Given the description of an element on the screen output the (x, y) to click on. 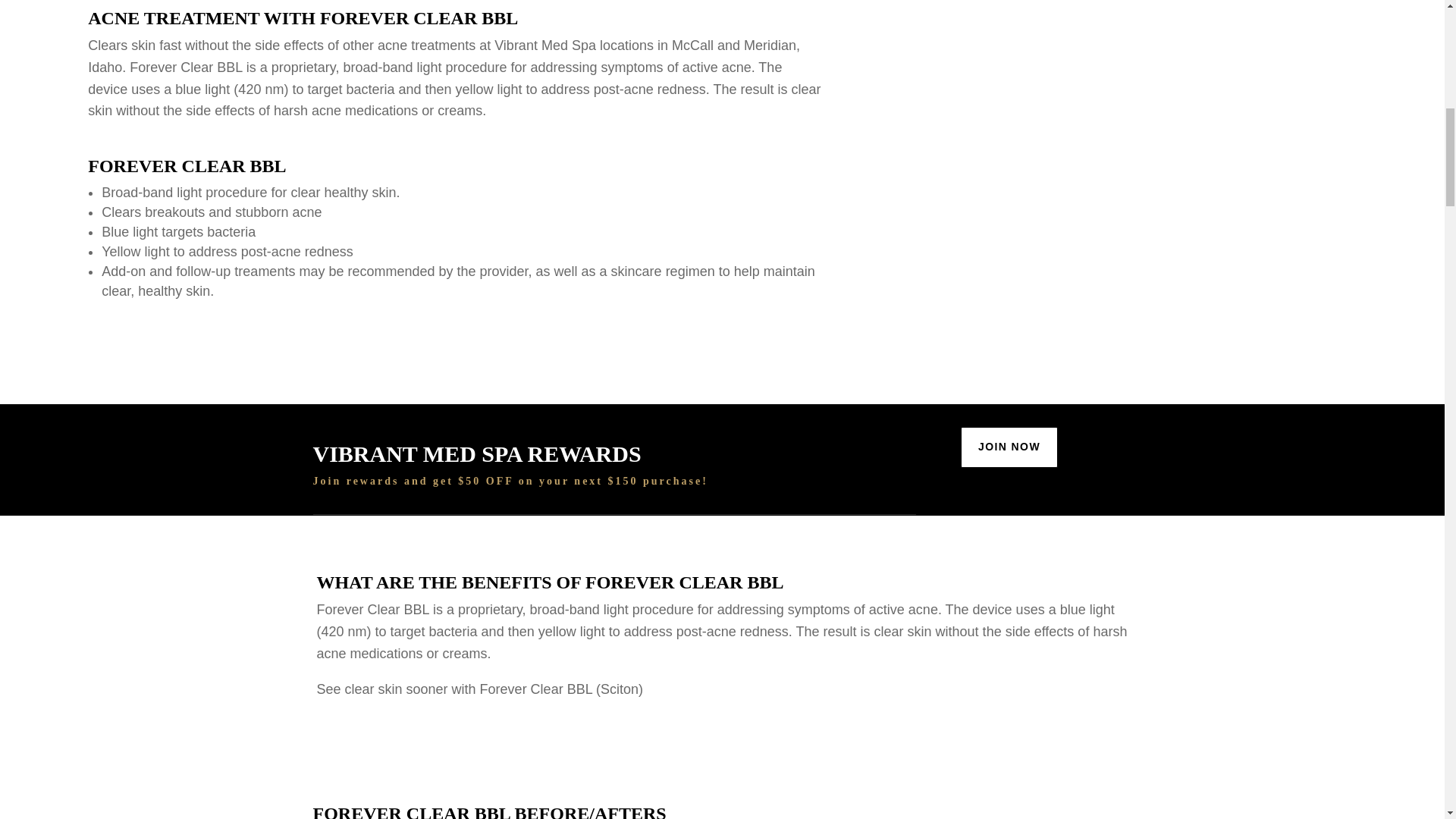
JOIN NOW (1009, 446)
